Given the description of an element on the screen output the (x, y) to click on. 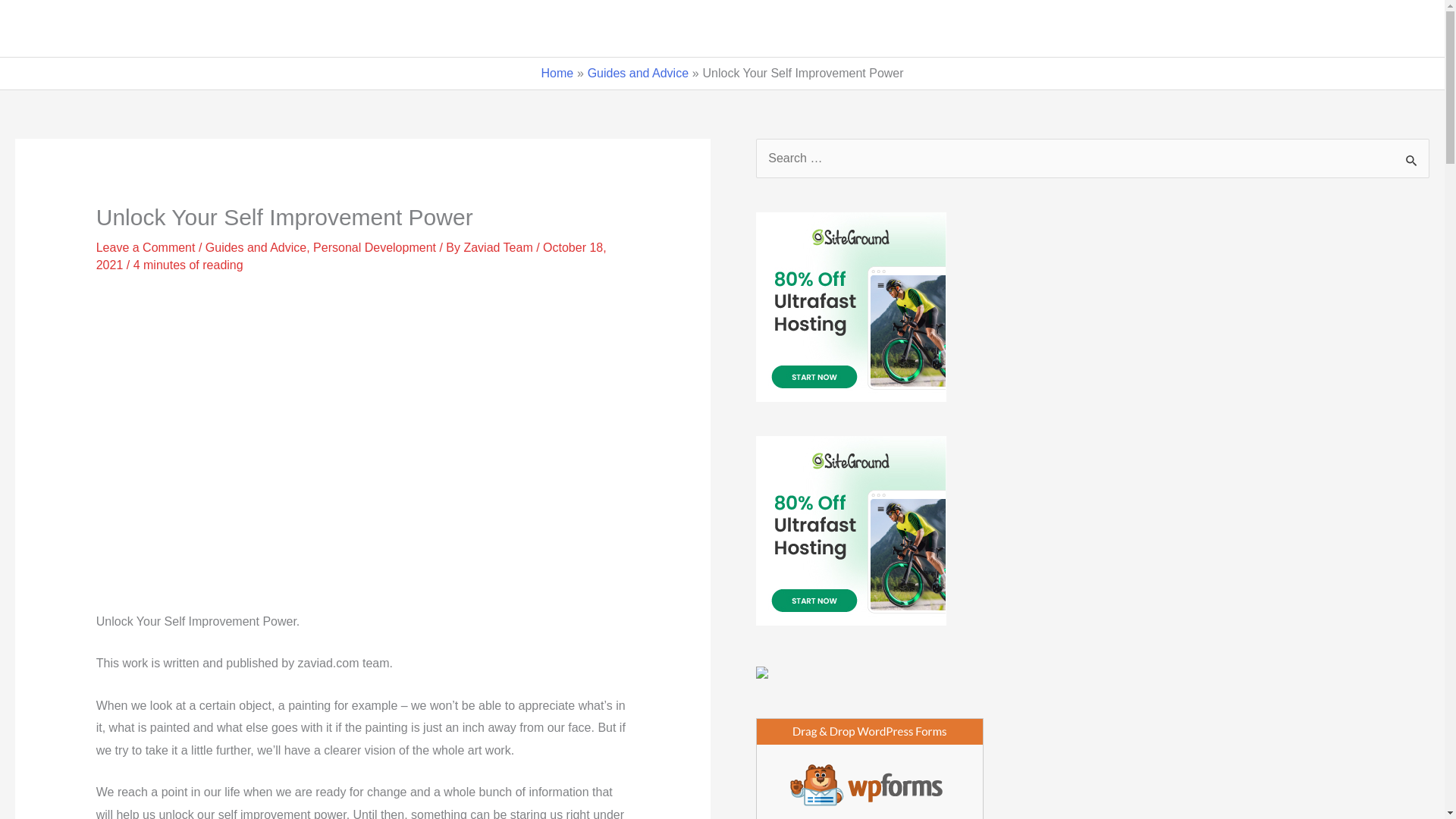
Proverbs (1266, 28)
Zaviad (56, 28)
Quotes (986, 28)
Explainer (1183, 28)
View all posts by Zaviad Team (499, 246)
Home (911, 28)
